Given the description of an element on the screen output the (x, y) to click on. 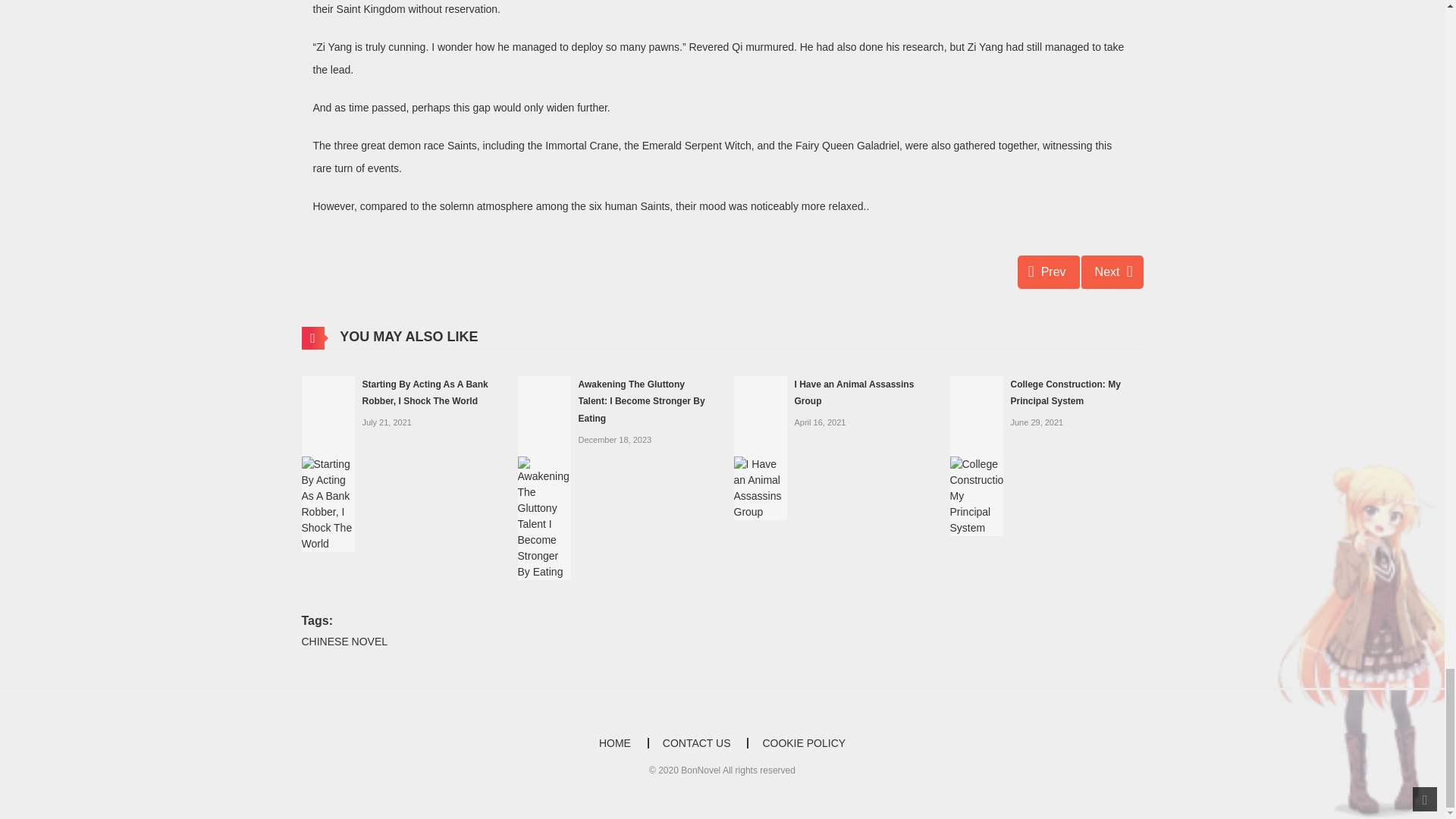
Chapter 2633 (1111, 272)
Chapter 2631 (1048, 272)
Starting By Acting As A Bank Robber, I Shock The World (328, 462)
